Given the description of an element on the screen output the (x, y) to click on. 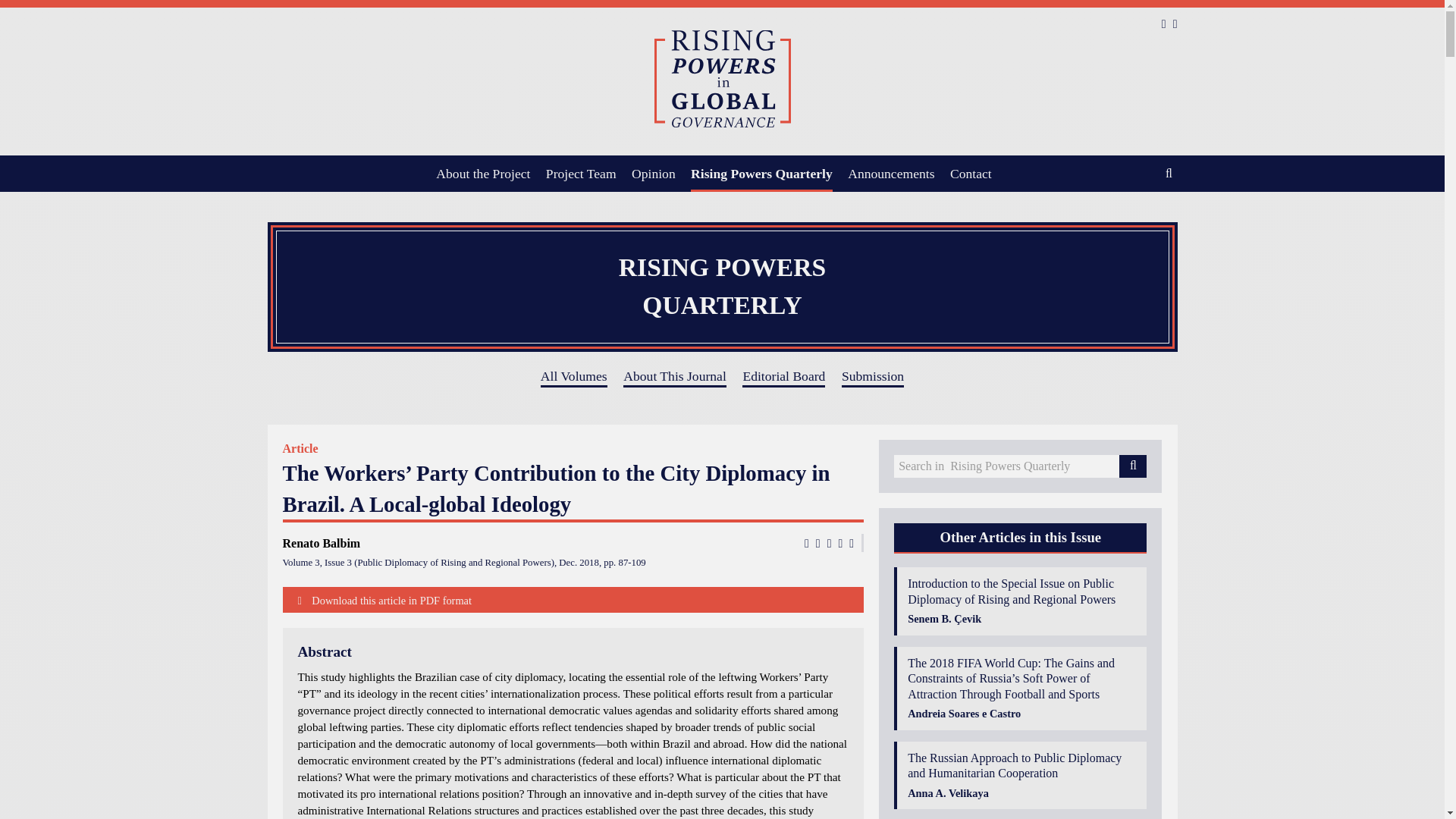
All Volumes (573, 377)
Renato Balbim (320, 543)
About the Project (482, 173)
Contact (970, 173)
Opinion (653, 173)
About This Journal (674, 377)
RISING POWERS QUARTERLY (721, 286)
Rising Powers Quarterly (761, 173)
Announcements (890, 173)
Project Team (580, 173)
